Given the description of an element on the screen output the (x, y) to click on. 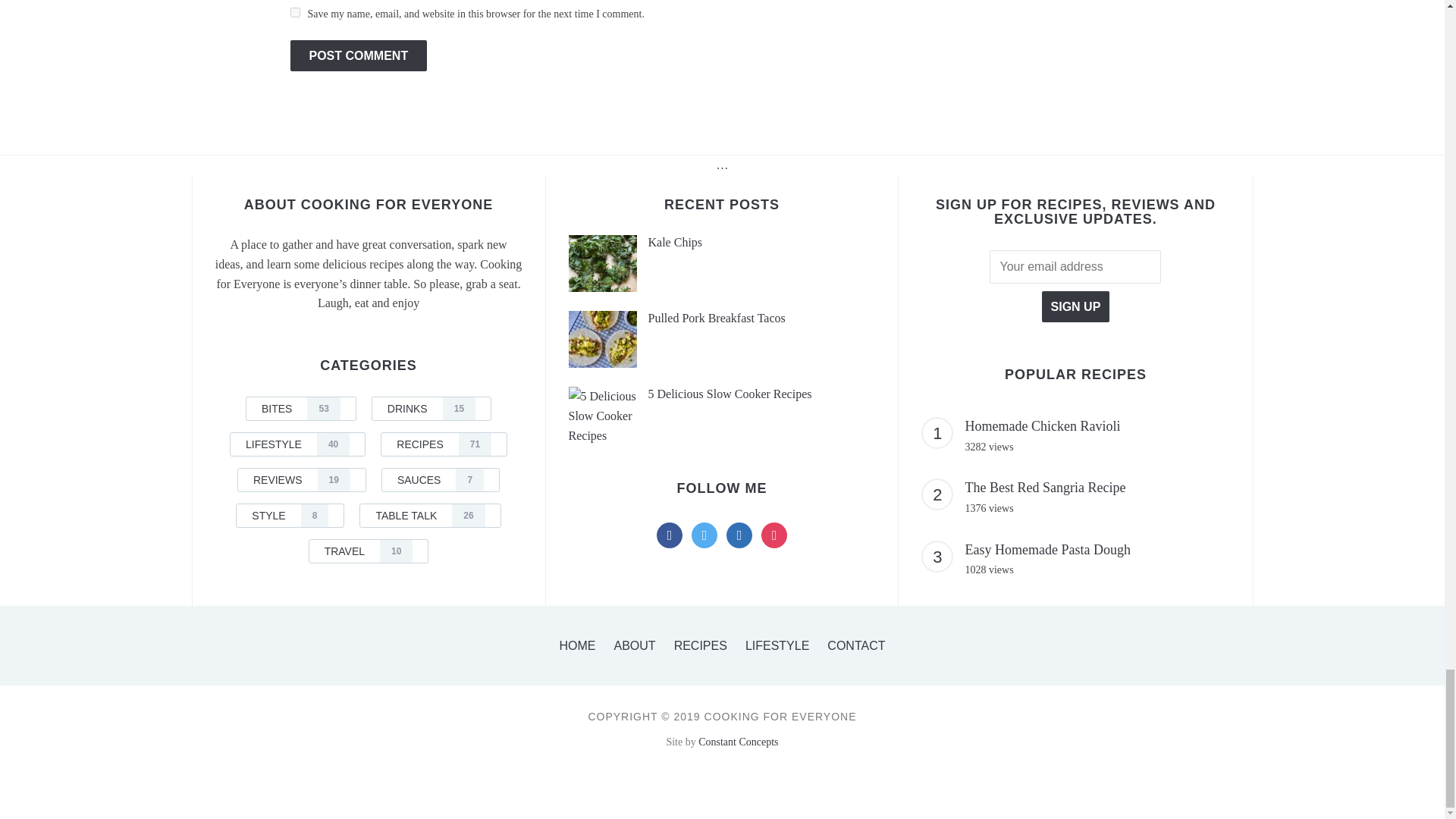
yes (294, 12)
Post Comment (357, 55)
Sign up (1075, 306)
